Given the description of an element on the screen output the (x, y) to click on. 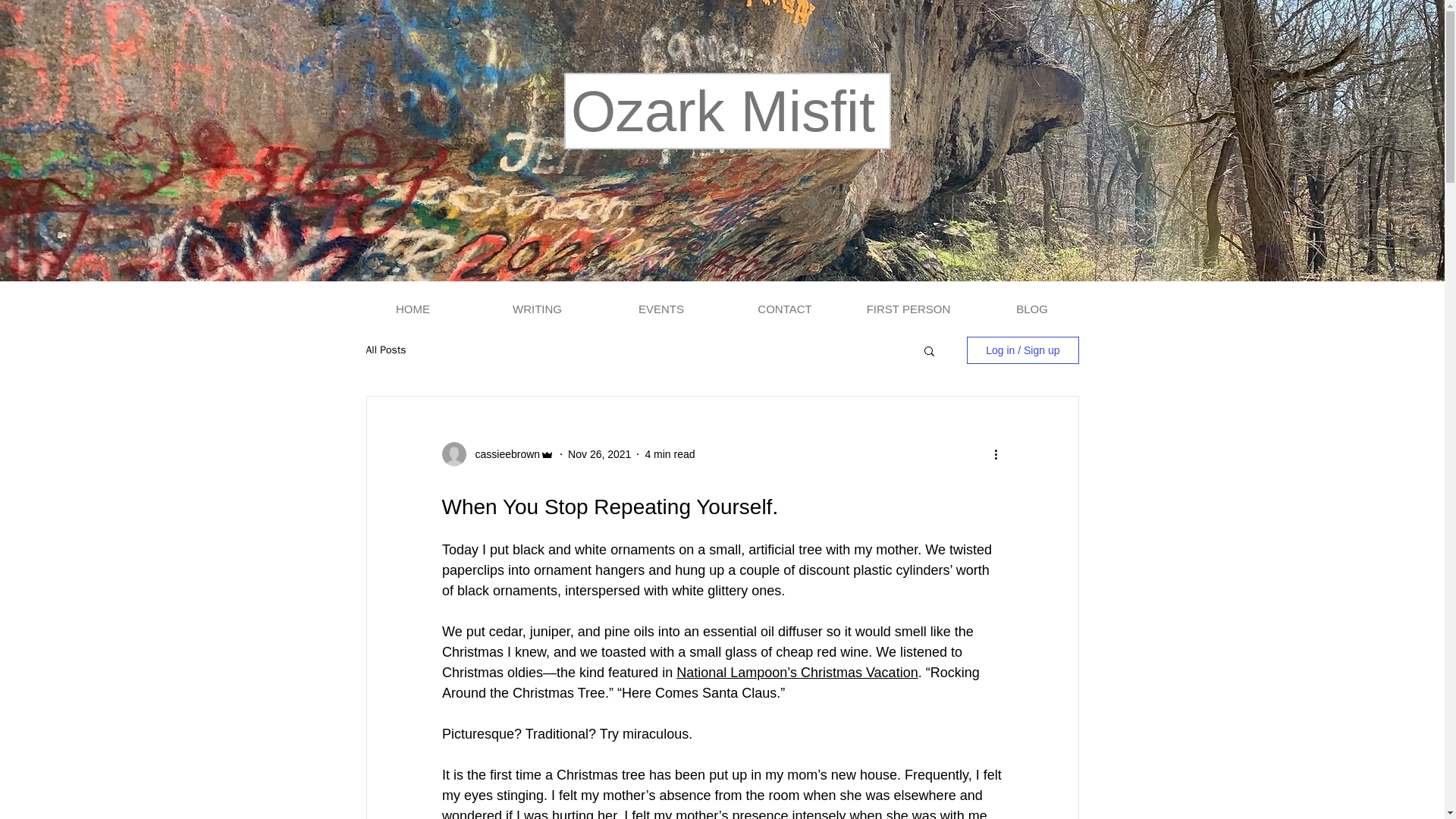
All Posts (385, 350)
Nov 26, 2021 (598, 453)
HOME (412, 309)
CONTACT (785, 309)
EVENTS (660, 309)
WRITING (536, 309)
Ozark Misfit (722, 110)
BLOG (1032, 309)
cassieebrown (502, 453)
4 min read (669, 453)
